Given the description of an element on the screen output the (x, y) to click on. 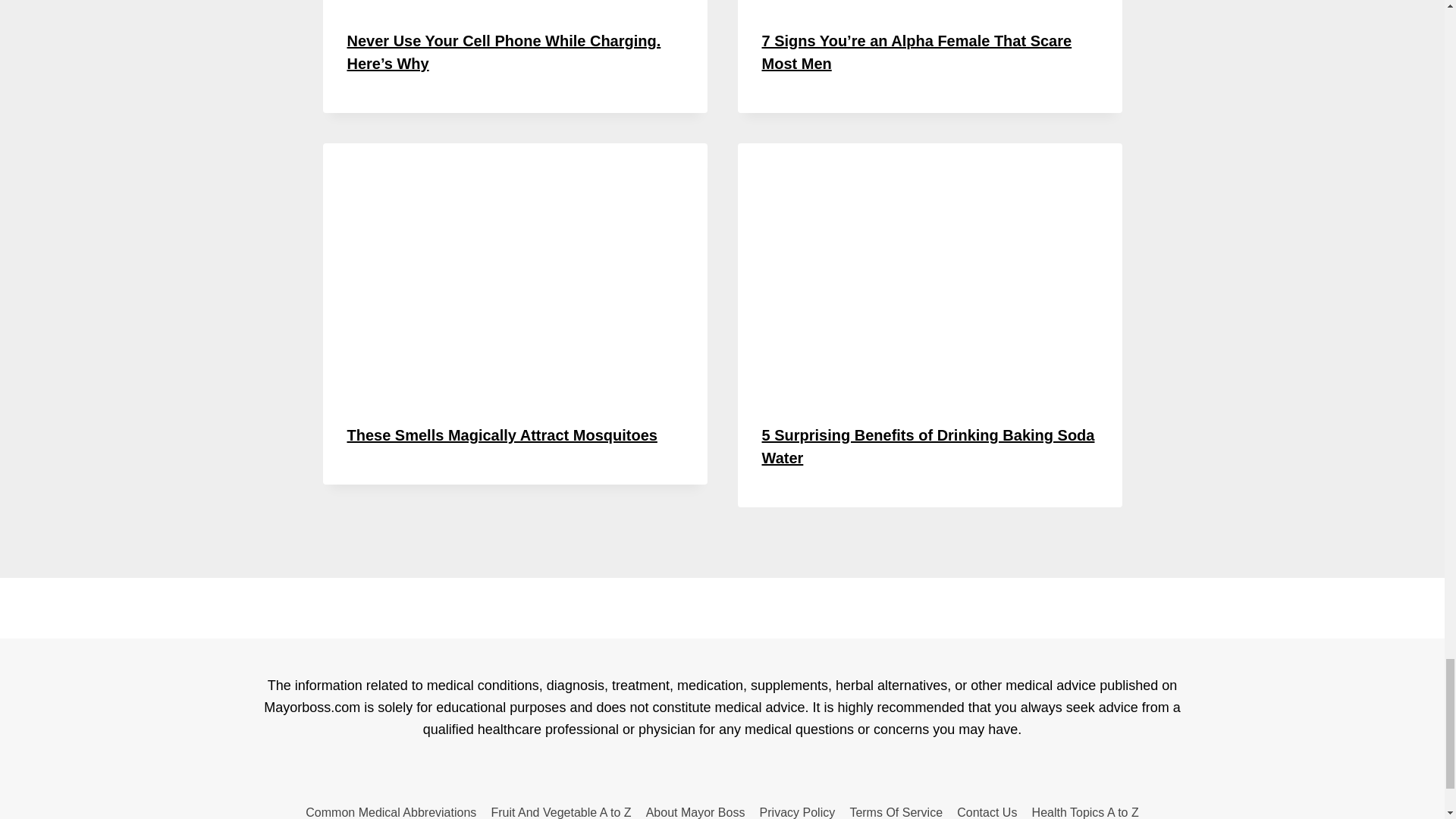
Terms Of Service (896, 809)
Privacy Policy (797, 809)
Health Topics A to Z (1085, 809)
5 Surprising Benefits of Drinking Baking Soda Water (927, 446)
Fruit And Vegetable A to Z (561, 809)
Common Medical Abbreviations (390, 809)
About Mayor Boss (695, 809)
Contact Us (987, 809)
These Smells Magically Attract Mosquitoes (502, 434)
